Given the description of an element on the screen output the (x, y) to click on. 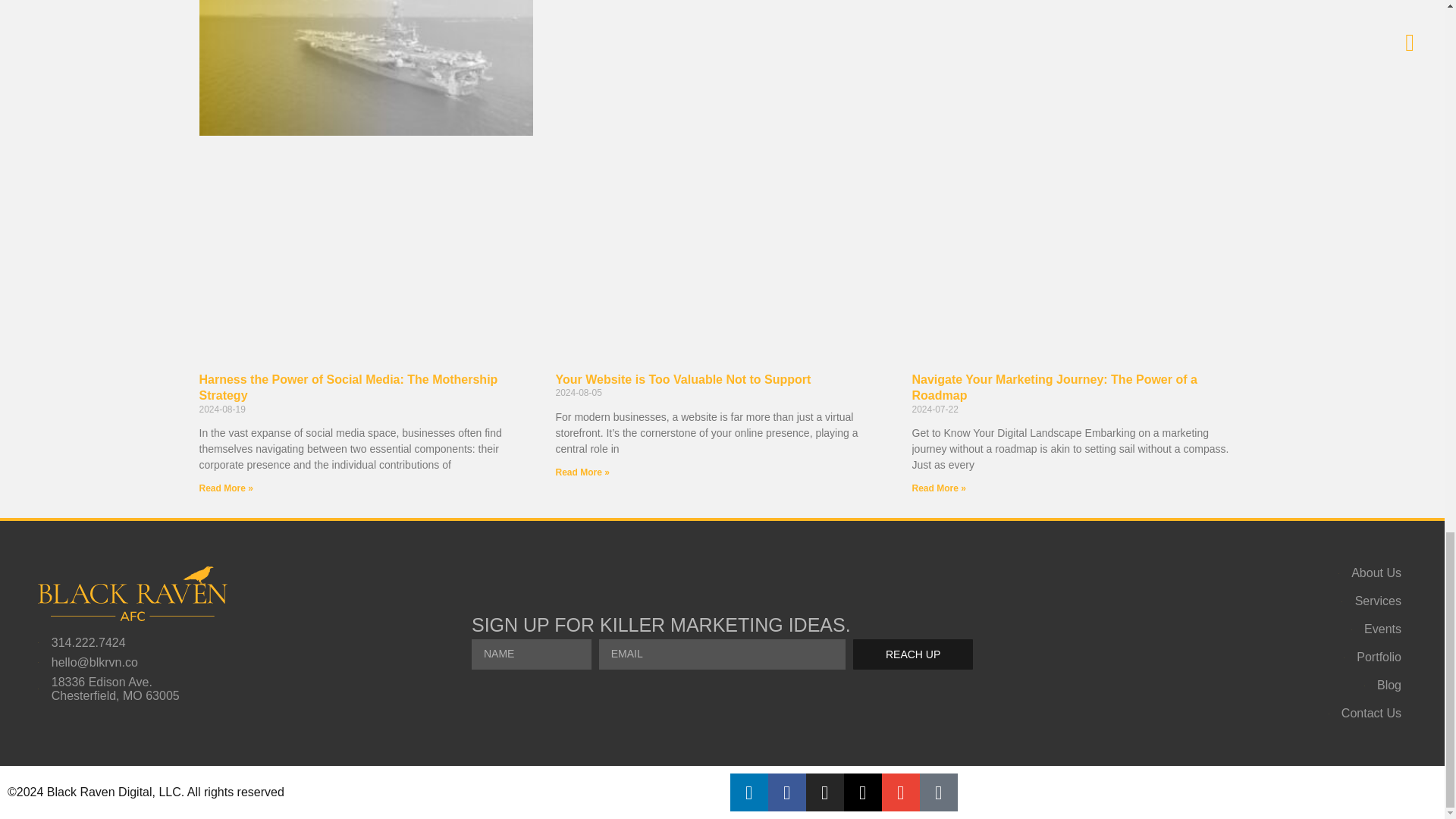
314.222.7424 (168, 643)
About Us (1272, 572)
Portfolio (1272, 657)
REACH UP (912, 654)
Blog (1272, 685)
Harness the Power of Social Media: The Mothership Strategy (347, 387)
Navigate Your Marketing Journey: The Power of a Roadmap (1053, 387)
Events (1272, 629)
Contact Us (1272, 713)
Services (1272, 601)
